Given the description of an element on the screen output the (x, y) to click on. 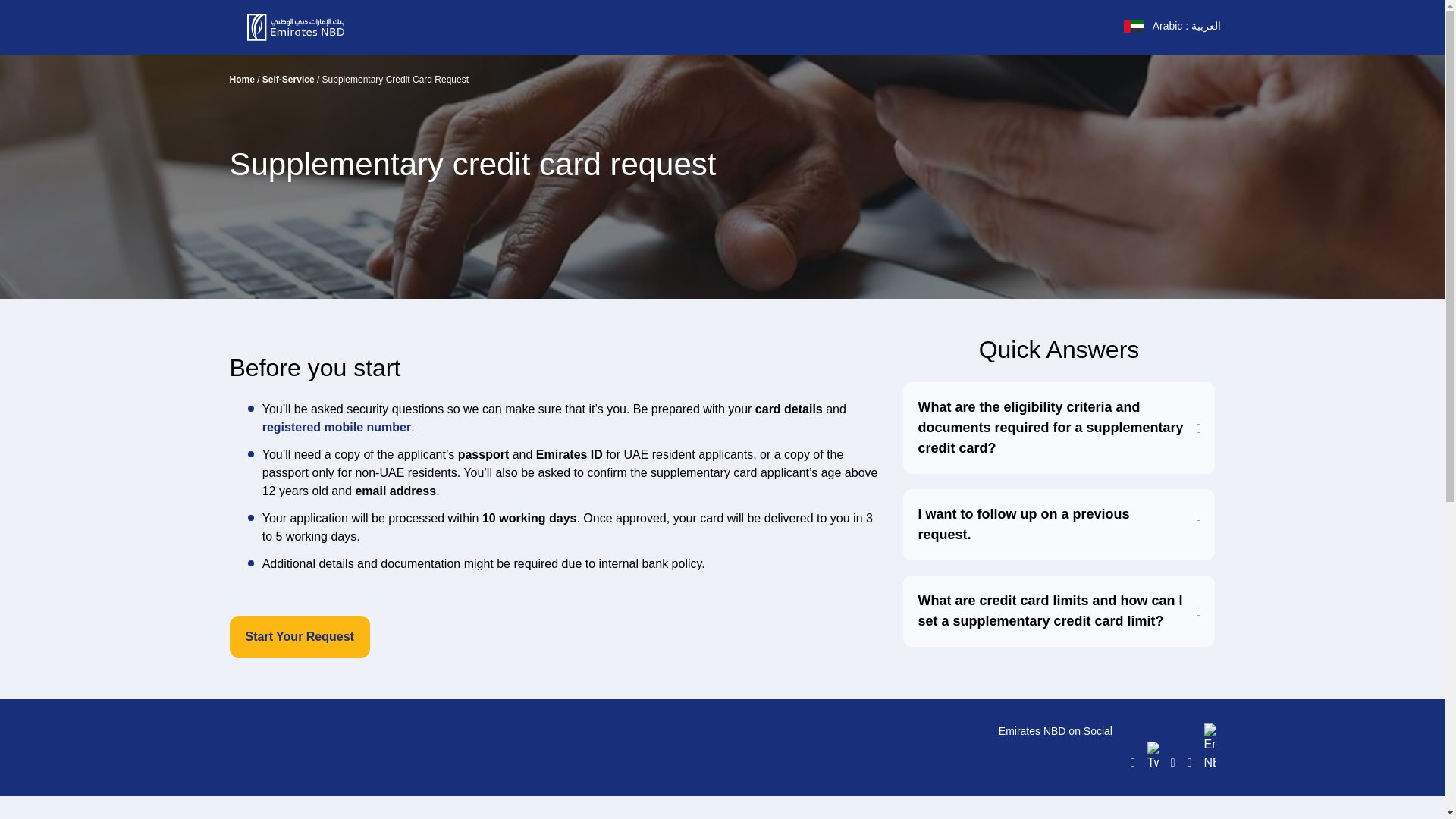
Home (240, 79)
registered mobile number (337, 427)
Self-Service (288, 79)
I want to follow up on a previous request. (1058, 524)
Emirates NBD (305, 27)
Start Your Request (298, 636)
Arabic   (1172, 26)
